Given the description of an element on the screen output the (x, y) to click on. 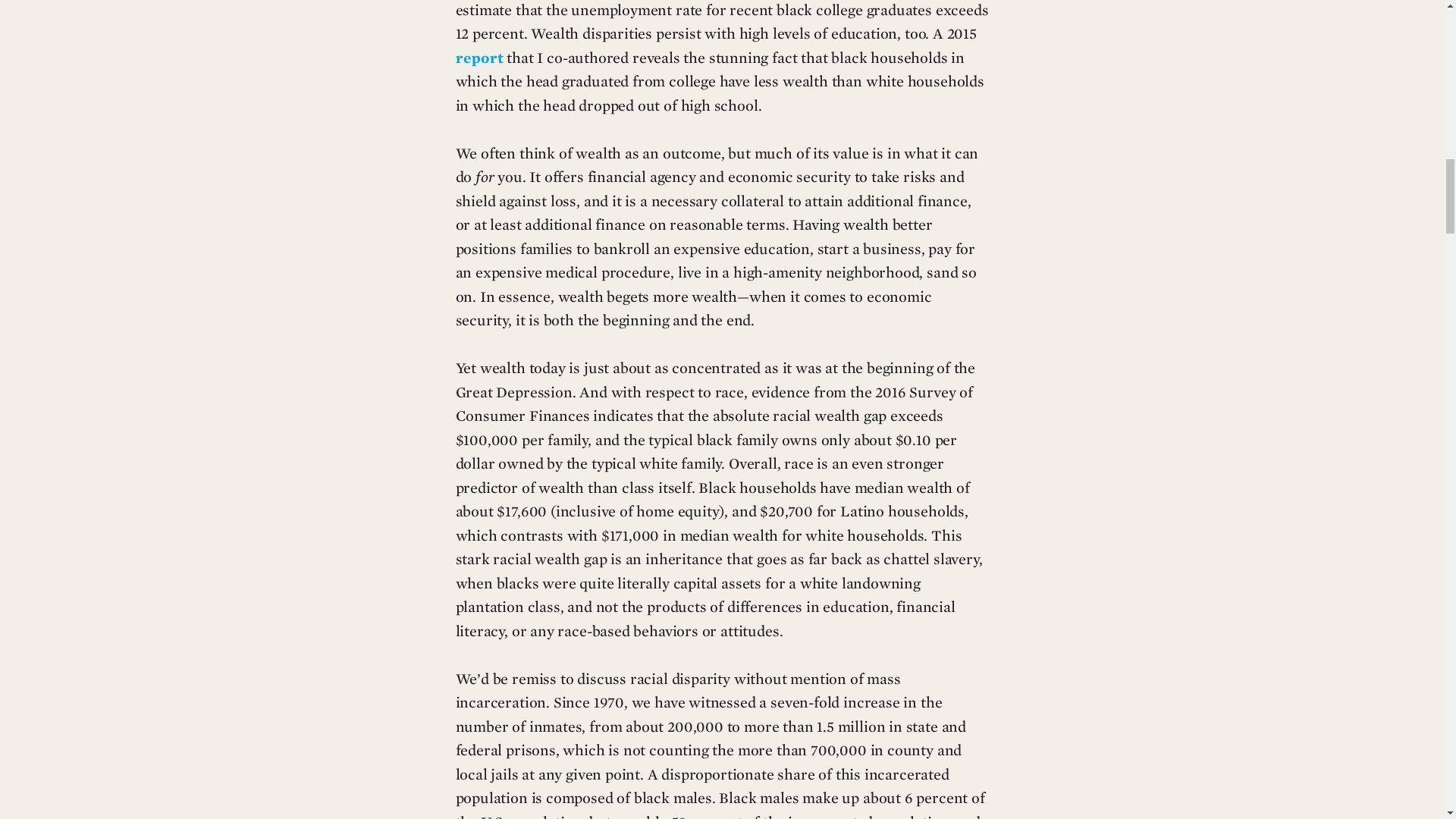
report (478, 58)
